Given the description of an element on the screen output the (x, y) to click on. 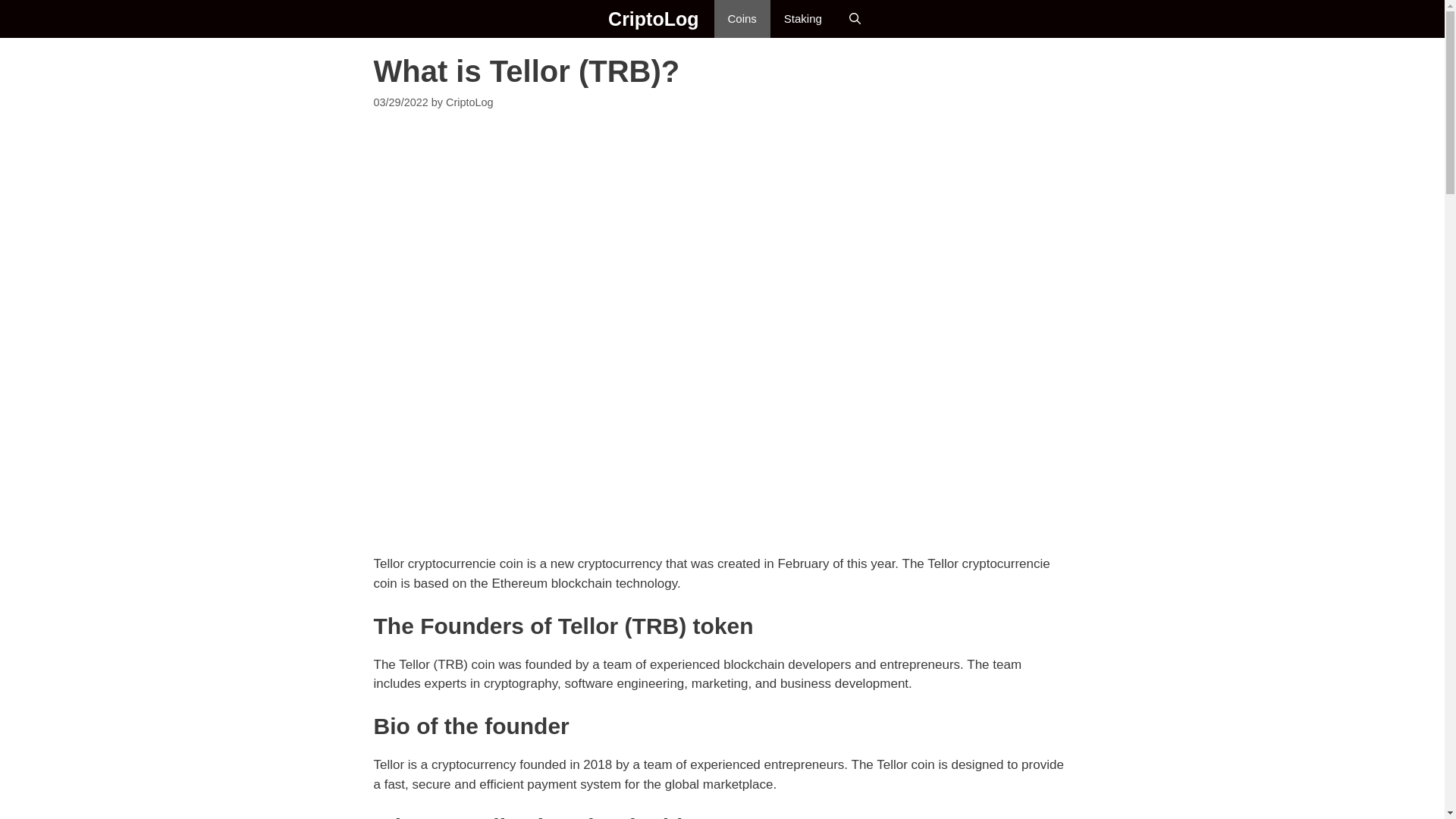
View all posts by CriptoLog (469, 102)
CriptoLog (588, 18)
CriptoLog (593, 18)
Coins (742, 18)
Staking (802, 18)
CriptoLog (469, 102)
CriptoLog (653, 18)
